Given the description of an element on the screen output the (x, y) to click on. 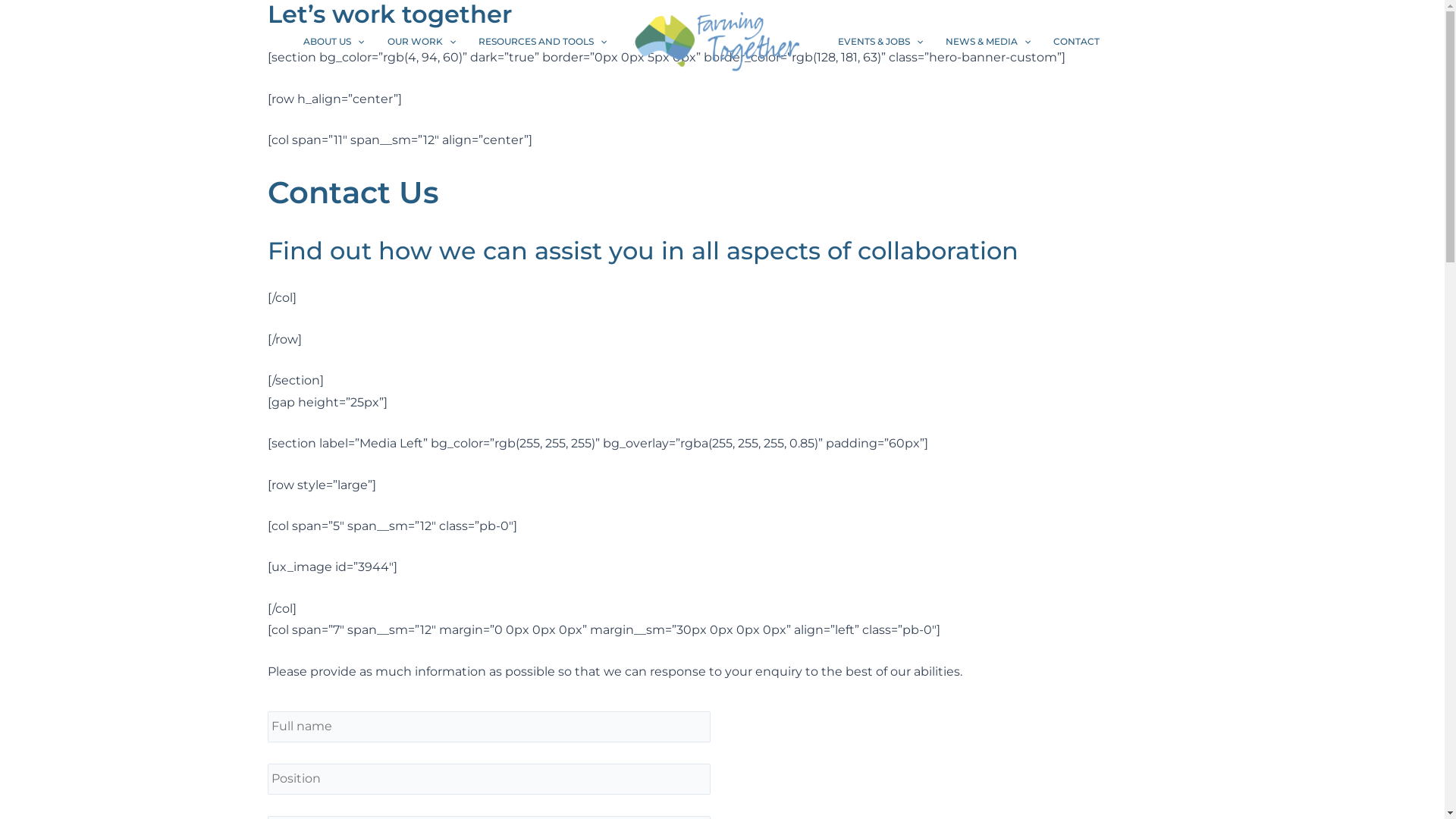
RESOURCES AND TOOLS Element type: text (542, 41)
ABOUT US Element type: text (333, 41)
NEWS & MEDIA Element type: text (987, 41)
OUR WORK Element type: text (421, 41)
EVENTS & JOBS Element type: text (880, 41)
CONTACT Element type: text (1075, 41)
